Given the description of an element on the screen output the (x, y) to click on. 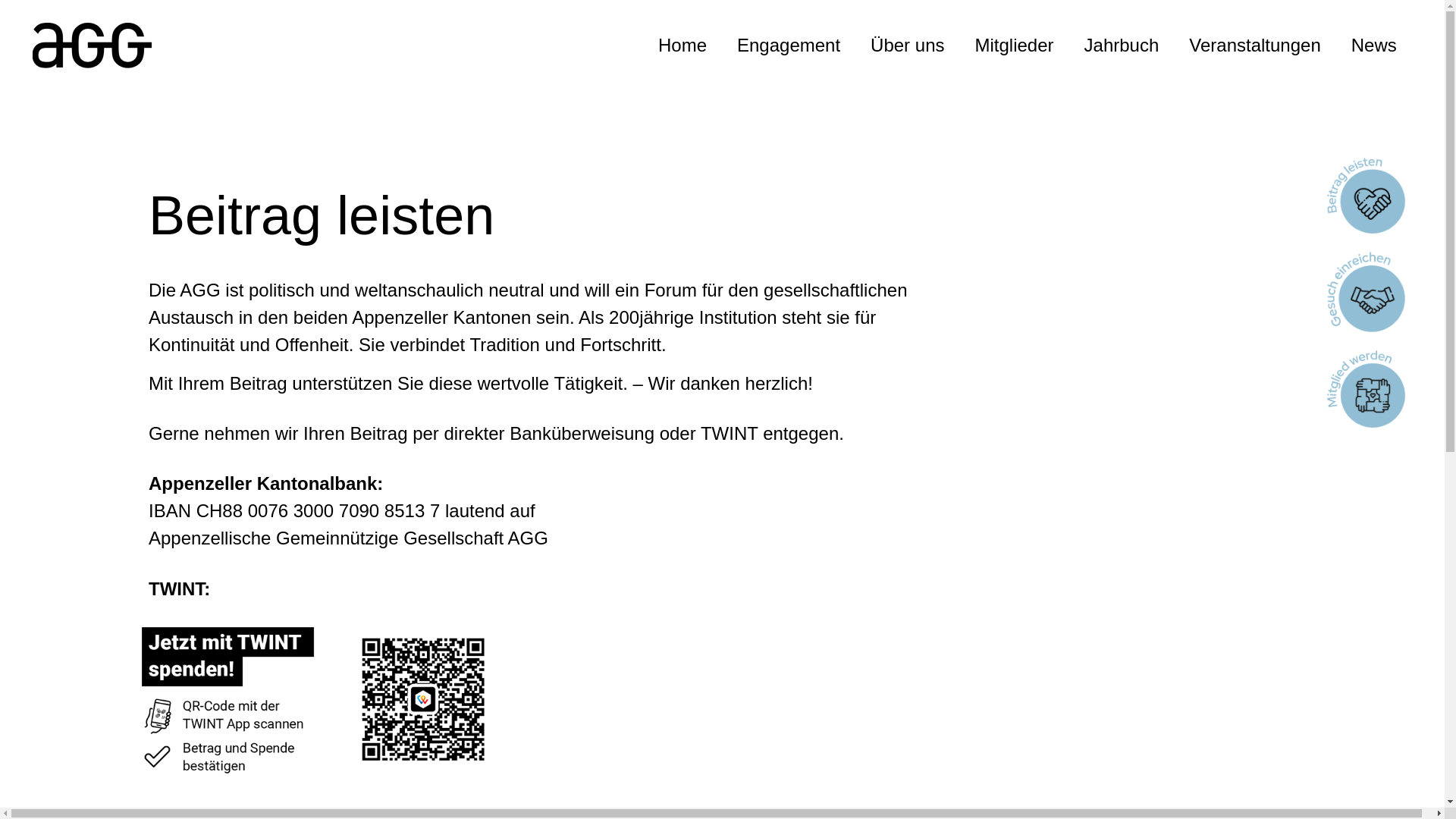
Veranstaltungen Element type: text (1254, 45)
News Element type: text (1374, 45)
cropped-logo_agg.png Element type: hover (91, 45)
Mitglieder Element type: text (1013, 45)
Engagement Element type: text (788, 45)
Home Element type: text (682, 45)
Jahrbuch Element type: text (1121, 45)
